Given the description of an element on the screen output the (x, y) to click on. 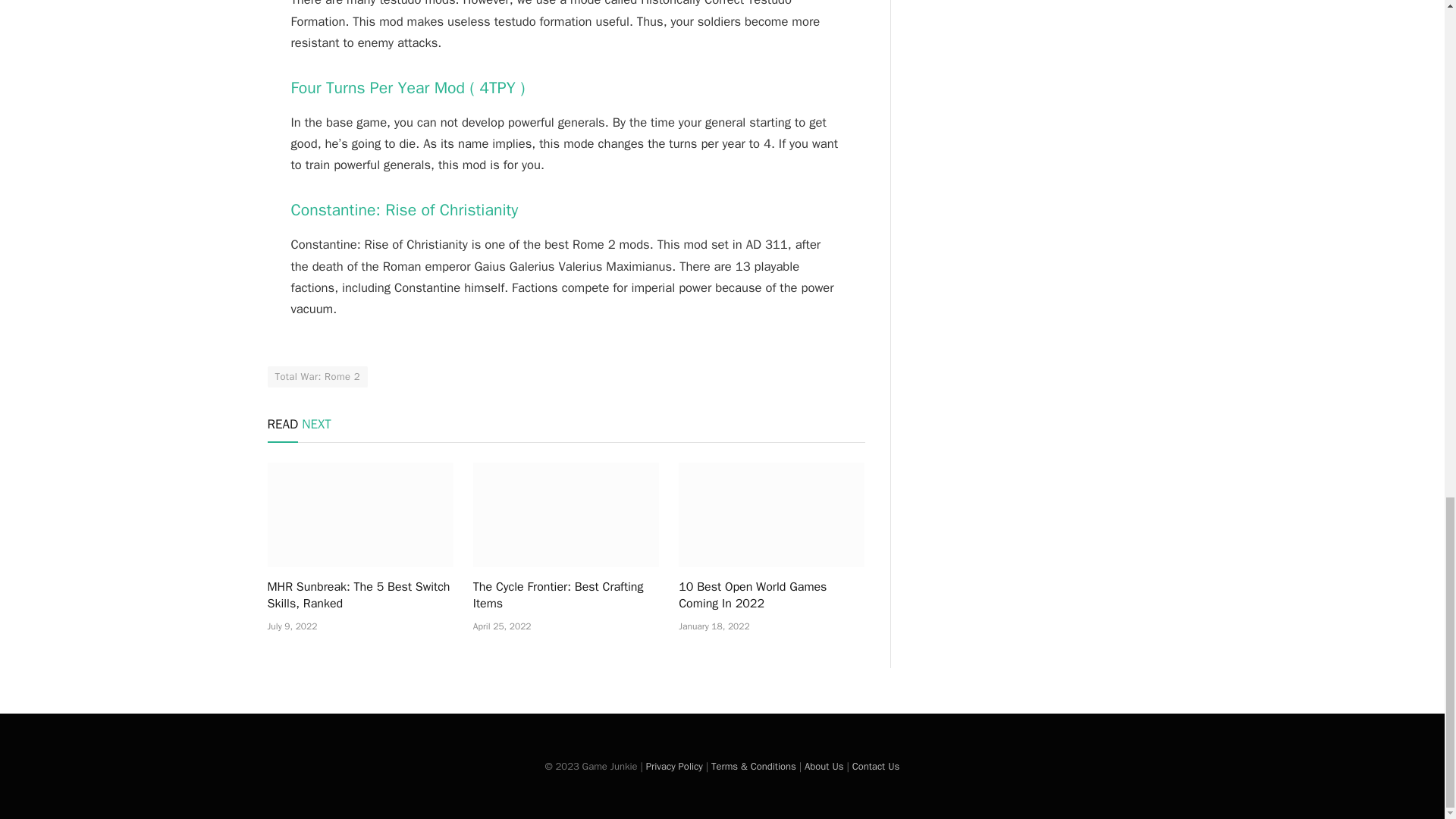
The Cycle Frontier: Best Crafting Items (566, 514)
The Cycle Frontier: Best Crafting Items (566, 595)
10 Best Open World Games Coming In 2022 (771, 595)
MHR Sunbreak: The 5 Best Switch Skills, Ranked (359, 514)
Total War: Rome 2 (316, 376)
Constantine: Rise of Christianity (404, 209)
10 Best Open World Games Coming In 2022 (771, 514)
MHR Sunbreak: The 5 Best Switch Skills, Ranked (359, 595)
